Given the description of an element on the screen output the (x, y) to click on. 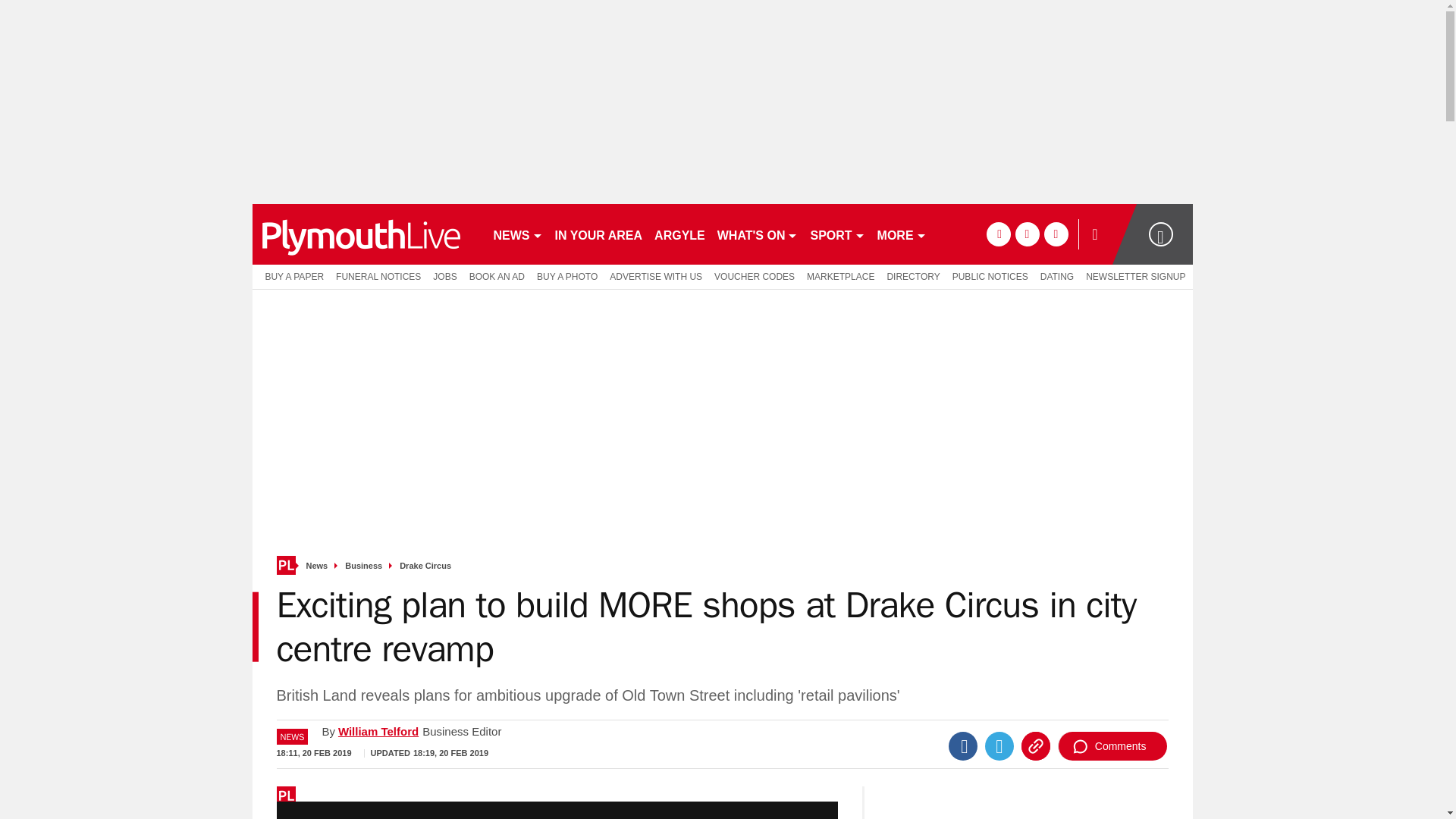
twitter (1026, 233)
facebook (997, 233)
MORE (901, 233)
ARGYLE (679, 233)
Comments (1112, 746)
Twitter (999, 746)
WHAT'S ON (758, 233)
Facebook (962, 746)
instagram (1055, 233)
plymouthherald (365, 233)
